Given the description of an element on the screen output the (x, y) to click on. 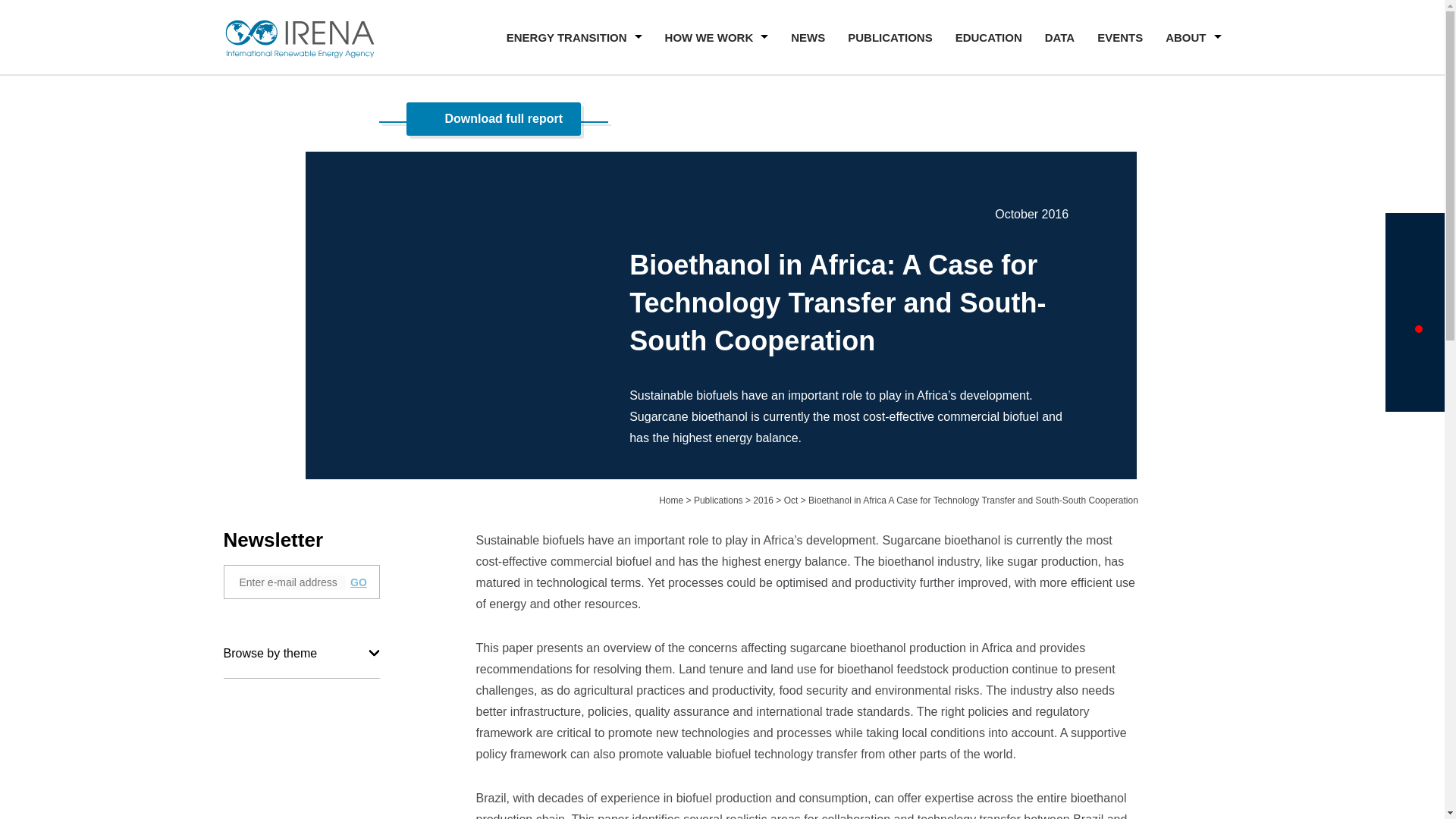
PUBLICATIONS (889, 39)
PUBLICATIONS (889, 39)
HOW WE WORK (716, 39)
ENERGY TRANSITION (574, 39)
EDUCATION (988, 39)
